Given the description of an element on the screen output the (x, y) to click on. 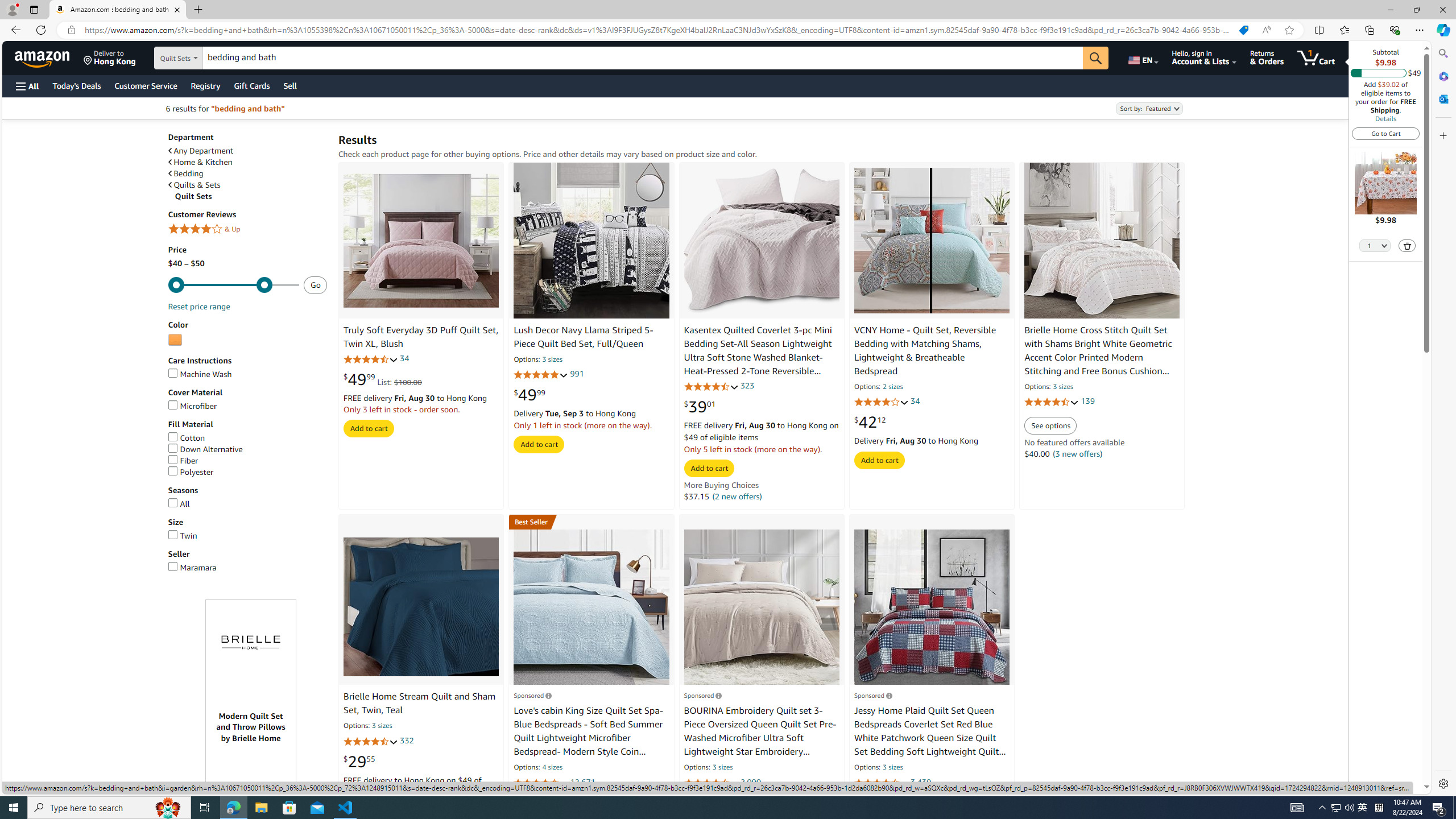
View Sponsored information or leave ad feedback (872, 695)
Fiber (182, 460)
Machine Wash (199, 374)
323 (746, 384)
Twin (247, 535)
$49.99 List: $100.00 (382, 379)
Maramara (191, 567)
Hello, sign in Account & Lists (1203, 57)
Choose a language for shopping. (1142, 57)
Brielle Home Stream Quilt and Sham Set, Twin, Teal (419, 703)
All (247, 504)
Polyester (247, 472)
